Given the description of an element on the screen output the (x, y) to click on. 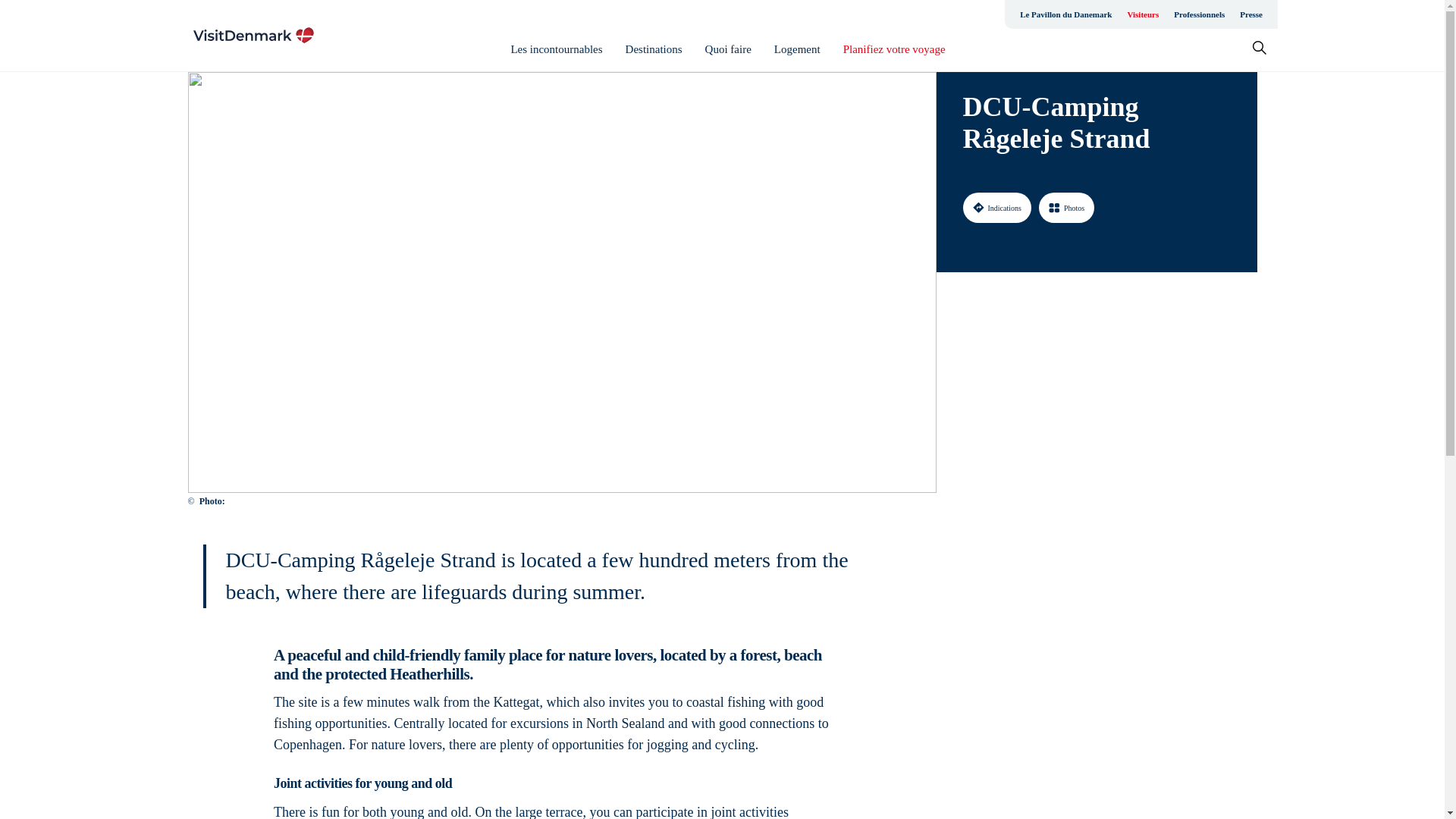
Professionnels (1198, 14)
Indications (996, 207)
Logement (797, 49)
Planifiez votre voyage (893, 49)
Quoi faire (727, 49)
Le Pavillon du Danemark (1065, 14)
Visiteurs (1142, 14)
Photos (1066, 207)
Les incontournables (556, 49)
Presse (1250, 14)
Destinations (654, 49)
